Given the description of an element on the screen output the (x, y) to click on. 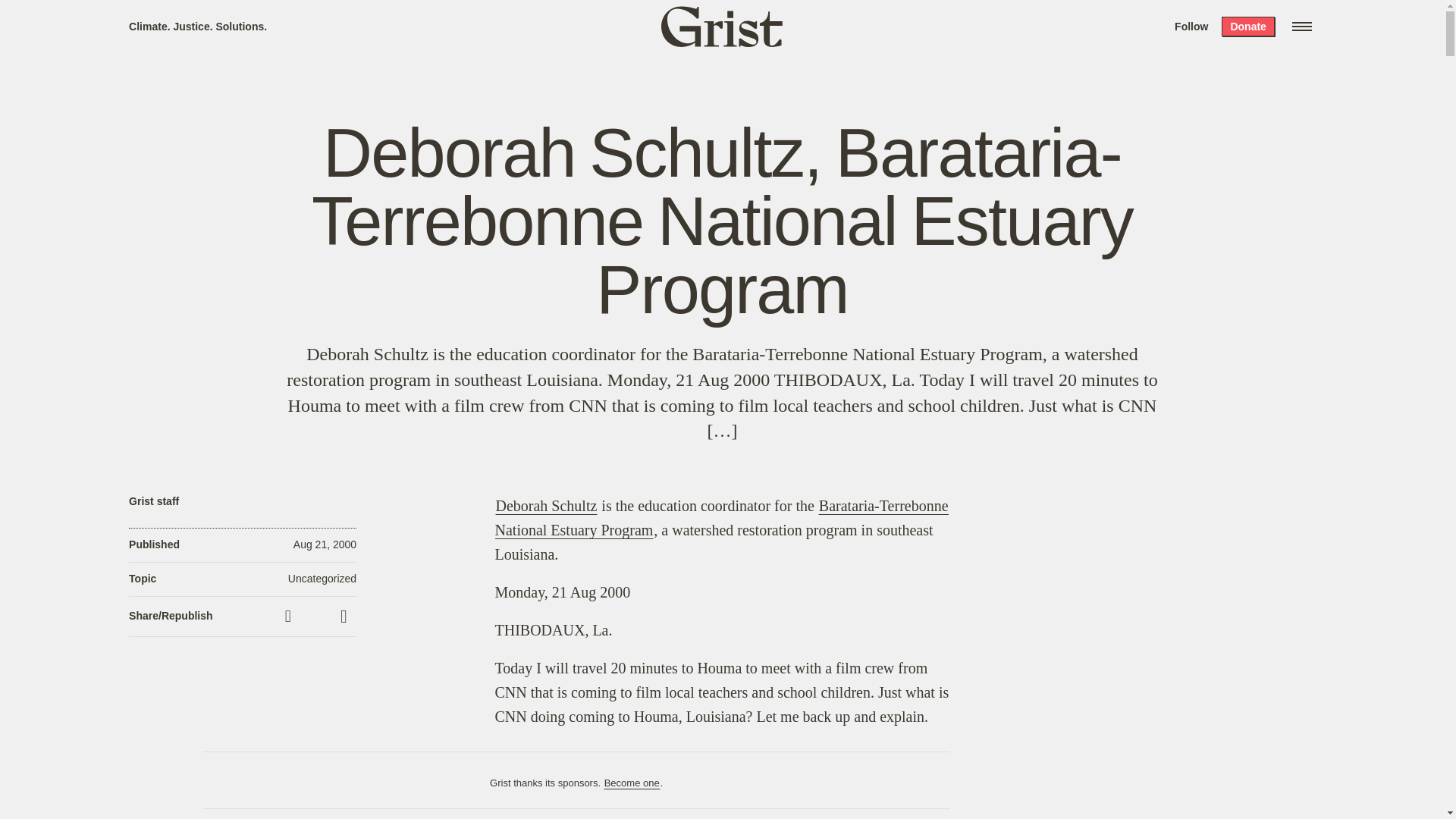
Grist staff (154, 501)
Follow (1191, 26)
Search (227, 18)
Grist home (722, 25)
Copy article link (289, 615)
Donate (1247, 26)
Republish the article (316, 616)
